Given the description of an element on the screen output the (x, y) to click on. 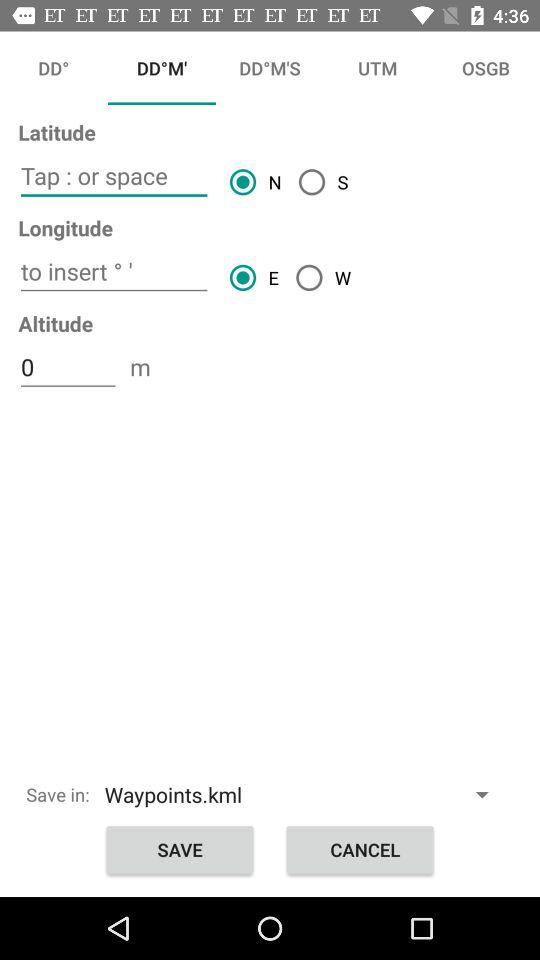
enter details (113, 175)
